Given the description of an element on the screen output the (x, y) to click on. 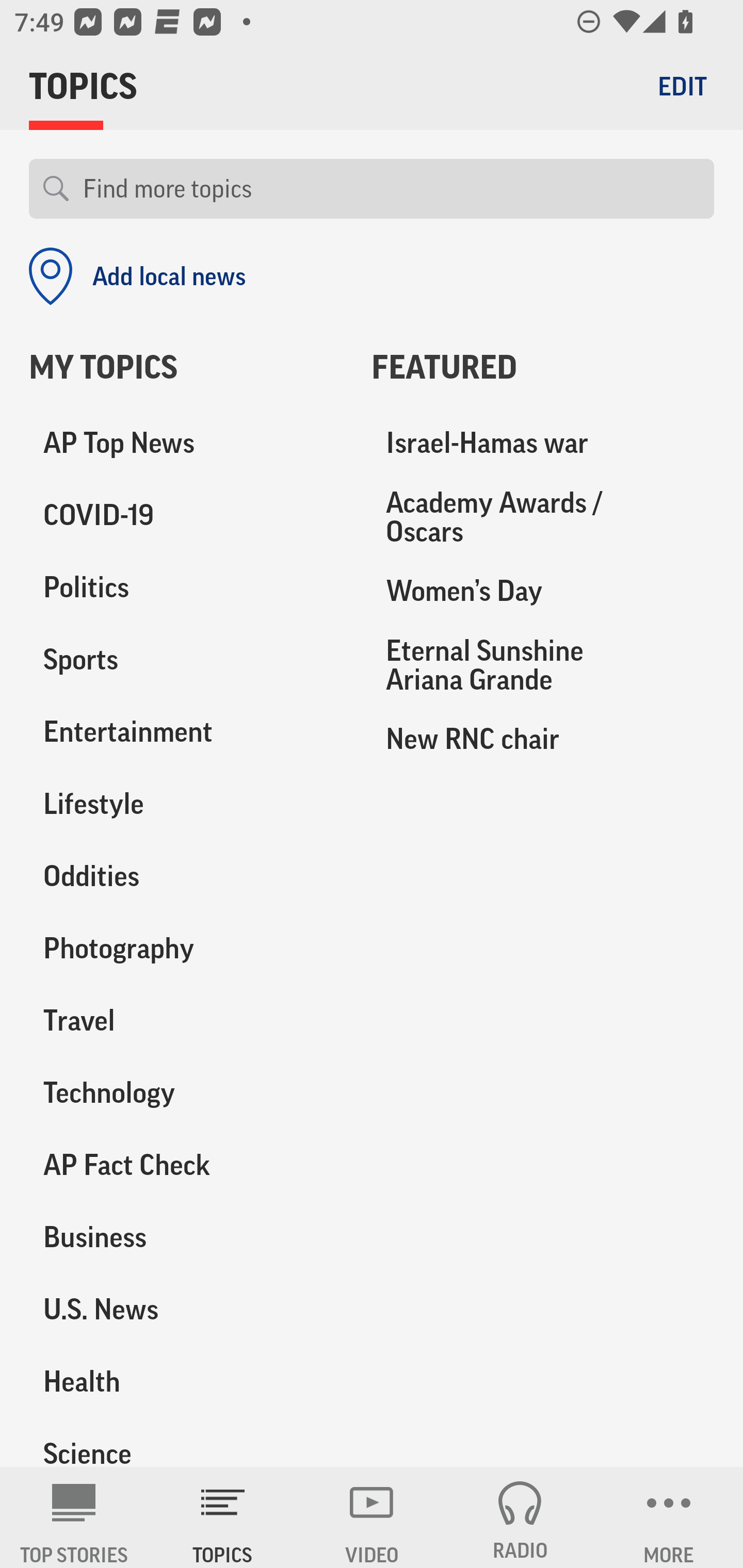
EDIT (682, 86)
Find more topics (391, 188)
Add local news (137, 276)
AP Top News (185, 443)
Israel-Hamas war (542, 443)
COVID-19 (185, 515)
Academy Awards / Oscars (542, 517)
Politics (185, 587)
Women’s Day (542, 591)
Sports (185, 660)
Eternal Sunshine Ariana Grande (542, 664)
Entertainment (185, 732)
New RNC chair (542, 738)
Lifestyle (185, 804)
Oddities (185, 876)
Photography (185, 948)
Travel (185, 1020)
Technology (185, 1092)
AP Fact Check (185, 1164)
Business (185, 1237)
U.S. News (185, 1309)
Health (185, 1381)
Science (185, 1442)
AP News TOP STORIES (74, 1517)
TOPICS (222, 1517)
VIDEO (371, 1517)
RADIO (519, 1517)
MORE (668, 1517)
